Given the description of an element on the screen output the (x, y) to click on. 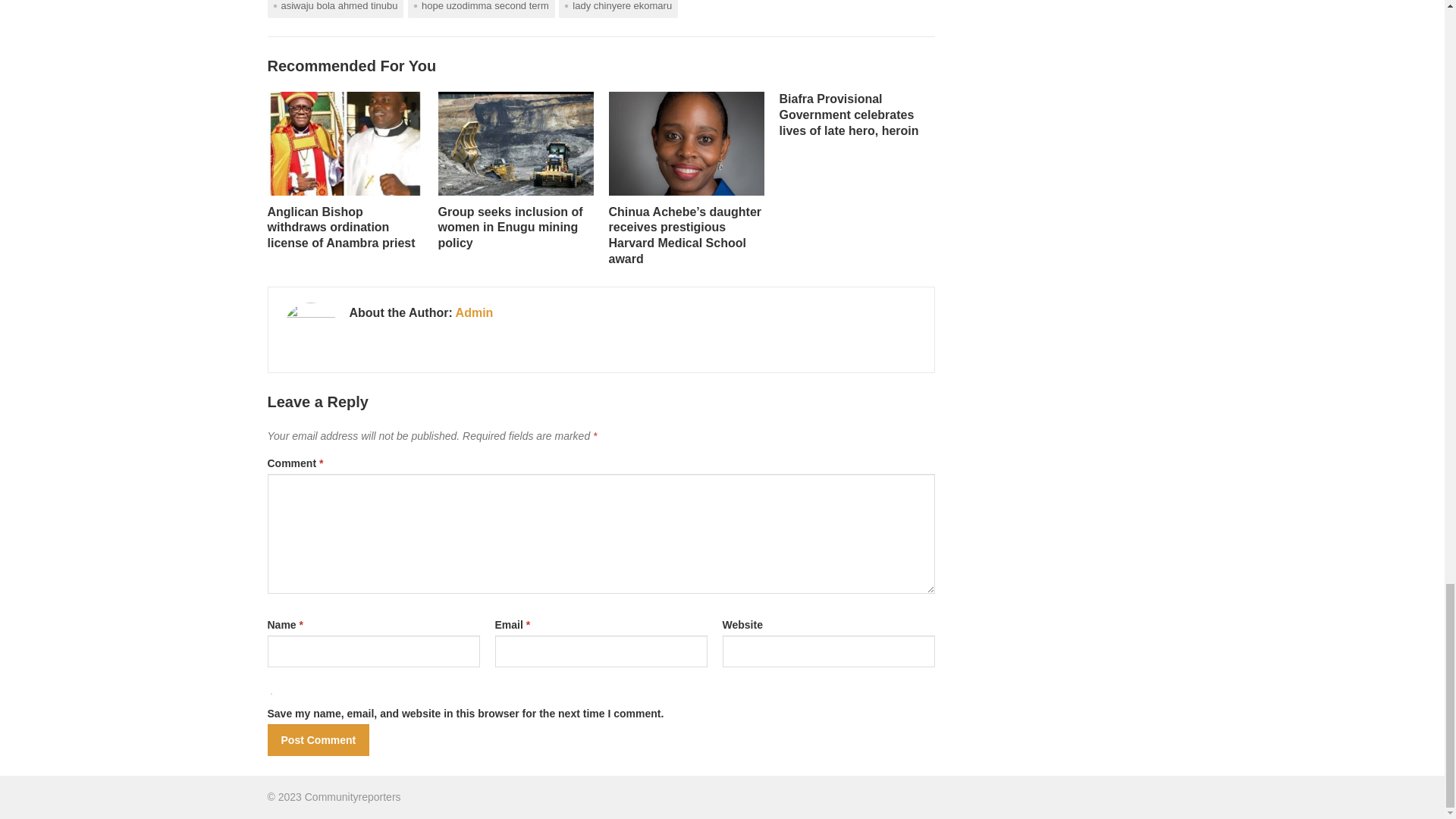
Post Comment (317, 739)
